Given the description of an element on the screen output the (x, y) to click on. 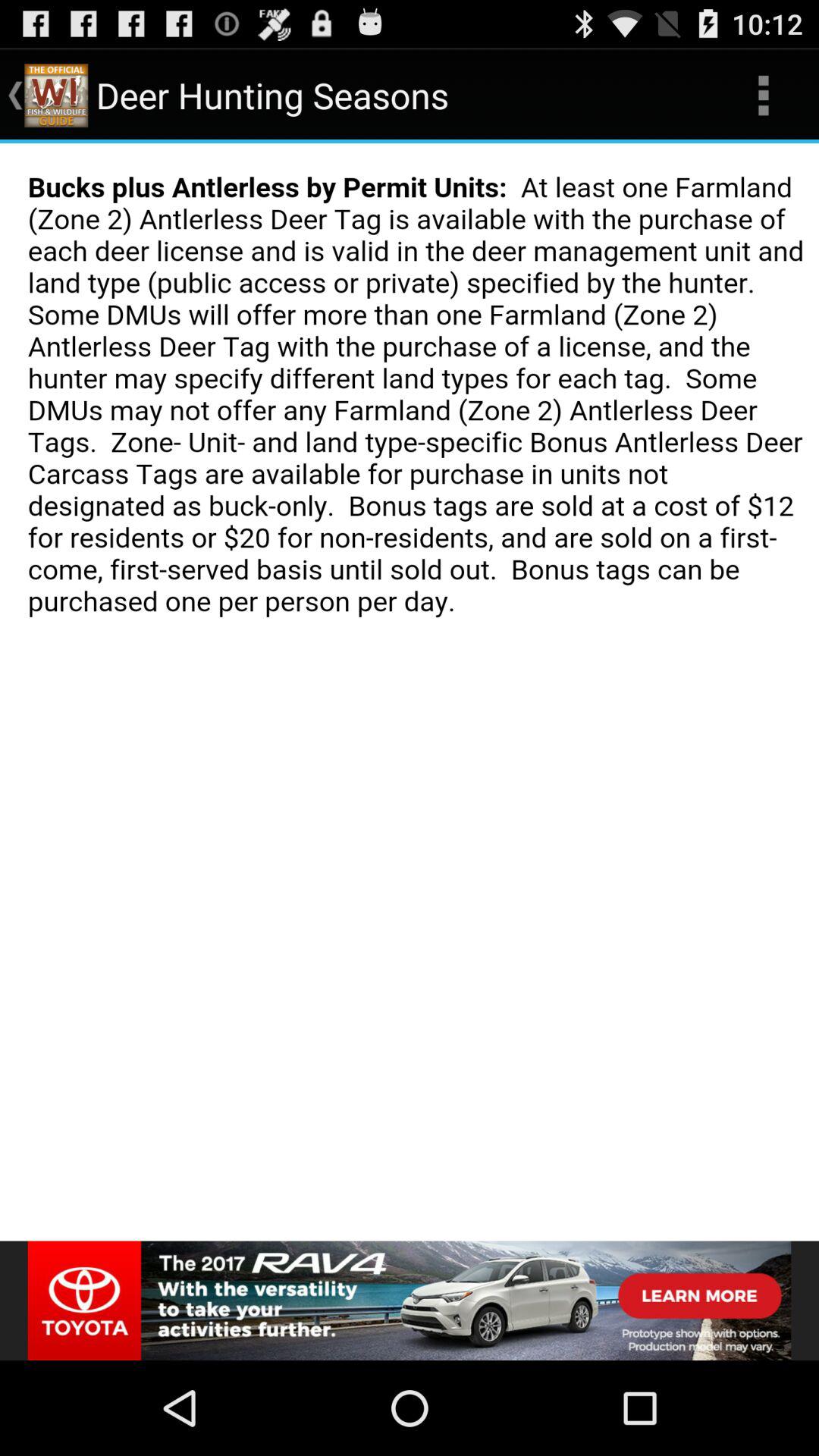
advertisement (409, 1300)
